Given the description of an element on the screen output the (x, y) to click on. 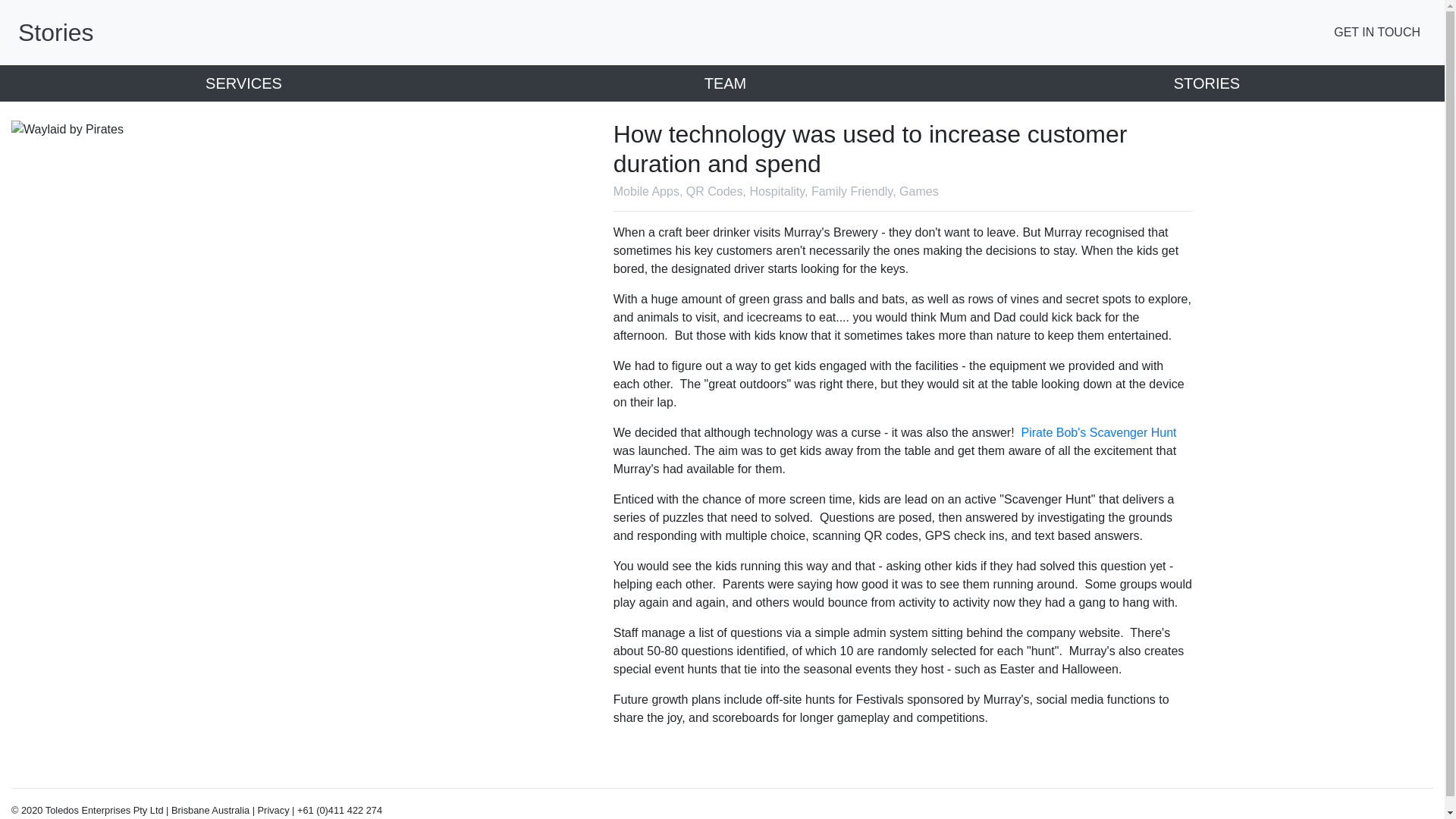
TEAM (721, 83)
GET IN TOUCH (1379, 32)
SERVICES (240, 83)
Privacy (273, 809)
Pirate Bob's Scavenger Hunt (1099, 431)
